Given the description of an element on the screen output the (x, y) to click on. 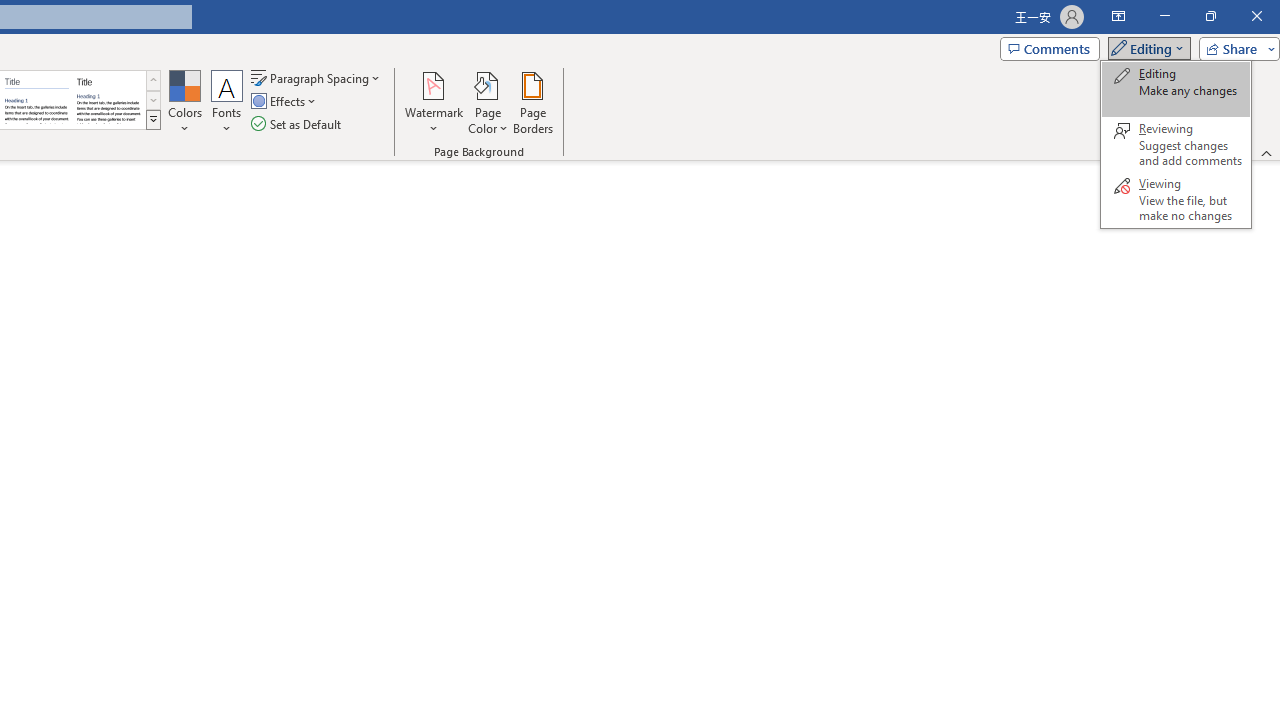
Page Borders... (532, 102)
Colors (184, 102)
Page Color (487, 102)
Word 2010 (36, 100)
Paragraph Spacing (317, 78)
